Given the description of an element on the screen output the (x, y) to click on. 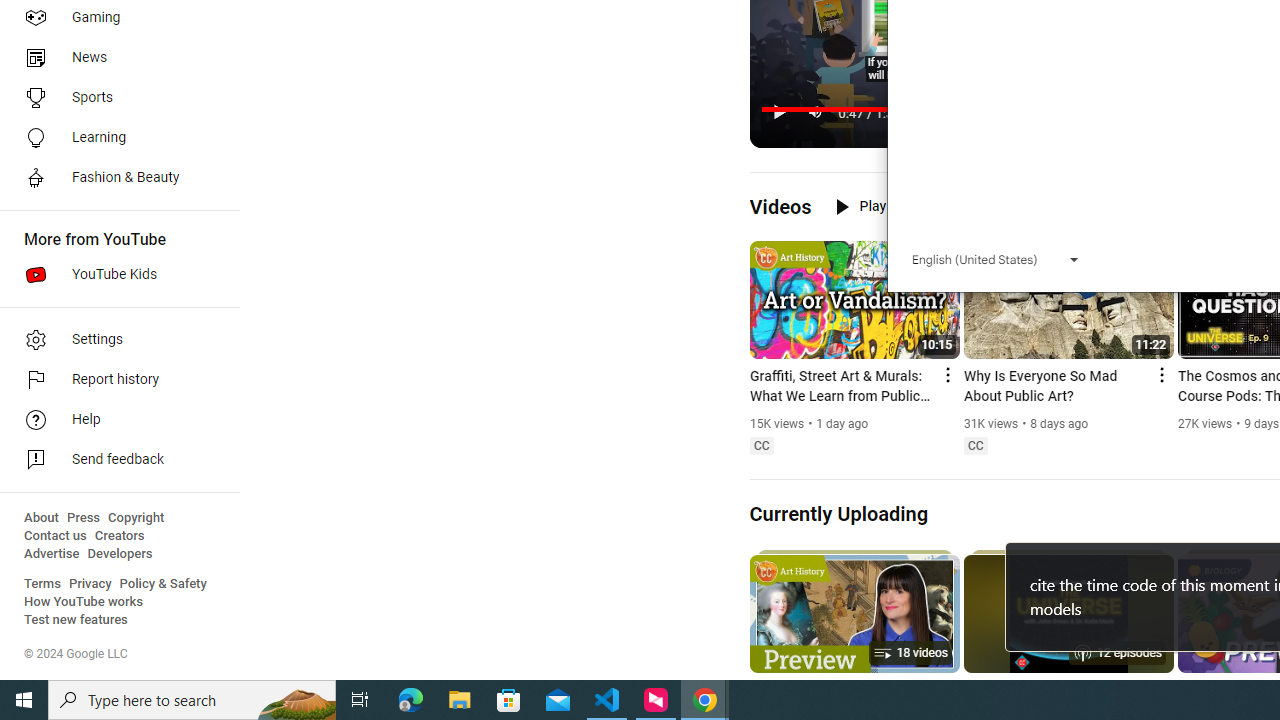
Google Chrome - 3 running windows (704, 699)
Microsoft Store (509, 699)
Mute (m) (815, 112)
Search highlights icon opens search home window (295, 699)
Send feedback (113, 459)
Report history (113, 380)
Currently Uploading (838, 513)
Fashion & Beauty (113, 177)
